Given the description of an element on the screen output the (x, y) to click on. 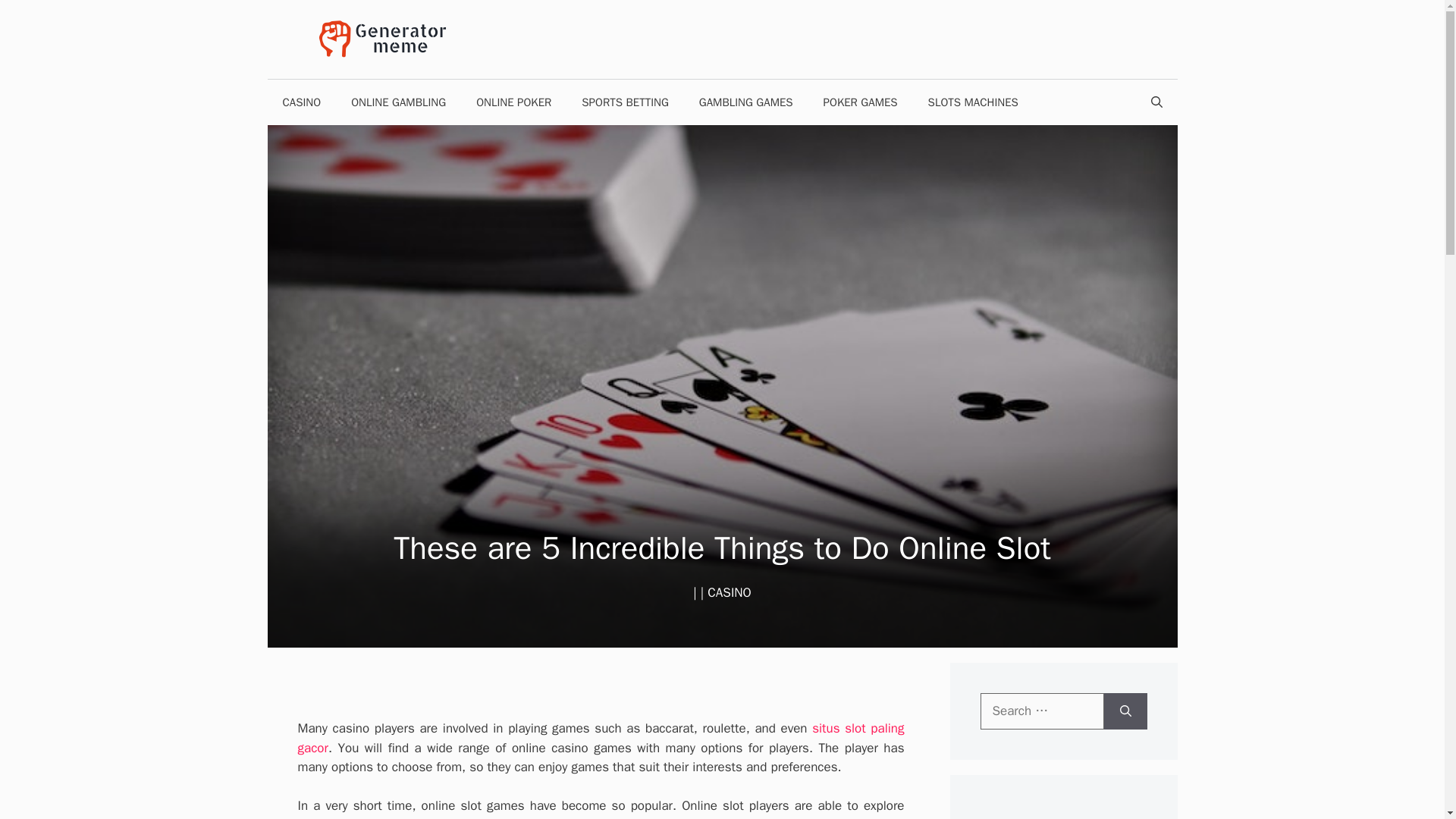
ONLINE GAMBLING (398, 102)
ONLINE POKER (513, 102)
SLOTS MACHINES (972, 102)
CASINO (729, 592)
GAMBLING GAMES (746, 102)
situs slot paling gacor (600, 737)
Search for: (1041, 710)
POKER GAMES (860, 102)
SPORTS BETTING (625, 102)
CASINO (301, 102)
